Given the description of an element on the screen output the (x, y) to click on. 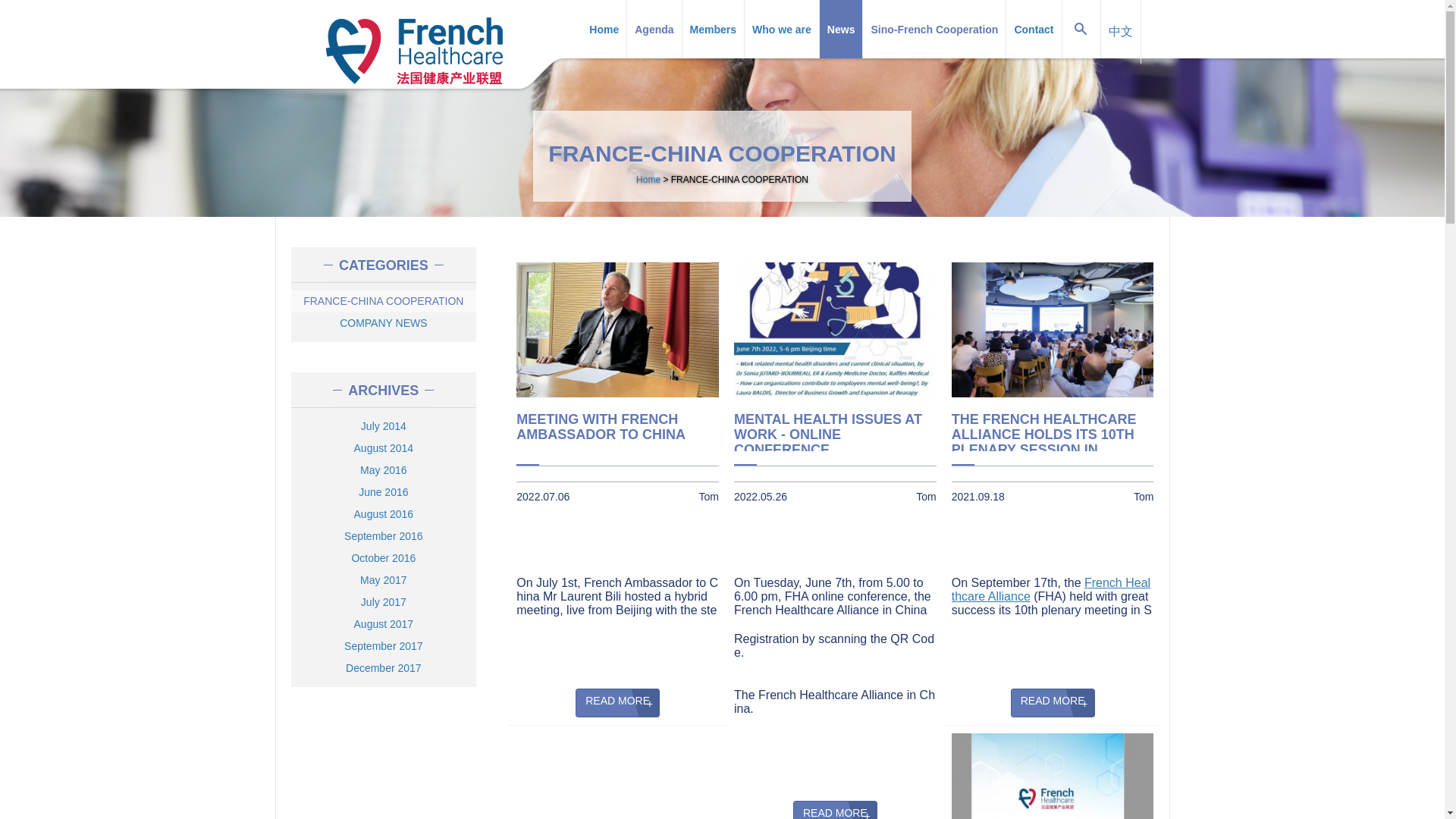
READ MORE (835, 809)
Home (648, 179)
READ MORE (1052, 702)
Members (713, 29)
READ MORE (617, 702)
Who we are (781, 29)
MEETING WITH FRENCH AMBASSADOR TO CHINA (617, 431)
Contact (1033, 29)
MENTAL HEALTH ISSUES AT WORK - ONLINE CONFERENCE (834, 431)
Who we are (781, 29)
Home (413, 47)
Contact (1033, 29)
Members (713, 29)
French Healthcare Alliance (1051, 589)
